Given the description of an element on the screen output the (x, y) to click on. 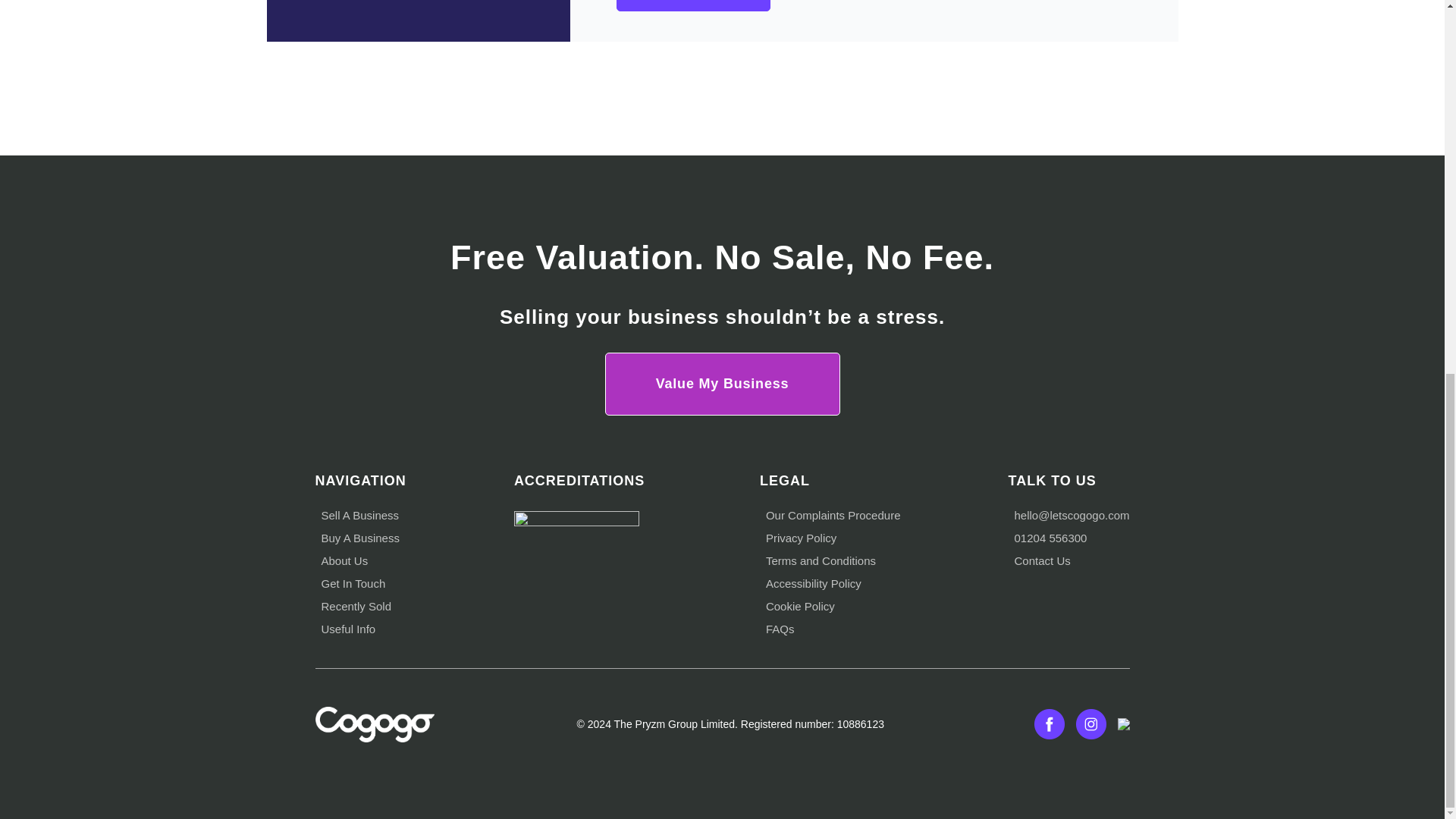
Get In Touch (353, 583)
FAQs (779, 628)
About Us (344, 560)
Terms and Conditions (820, 560)
Contact Us (1042, 560)
Recently Sold (356, 605)
Sell A Business (359, 514)
Privacy Policy (800, 537)
Value My Business (722, 383)
Buy A Business (359, 537)
Useful Info (348, 628)
Cookie Policy (799, 605)
Accessibility Policy (813, 583)
Our Complaints Procedure (833, 514)
